Given the description of an element on the screen output the (x, y) to click on. 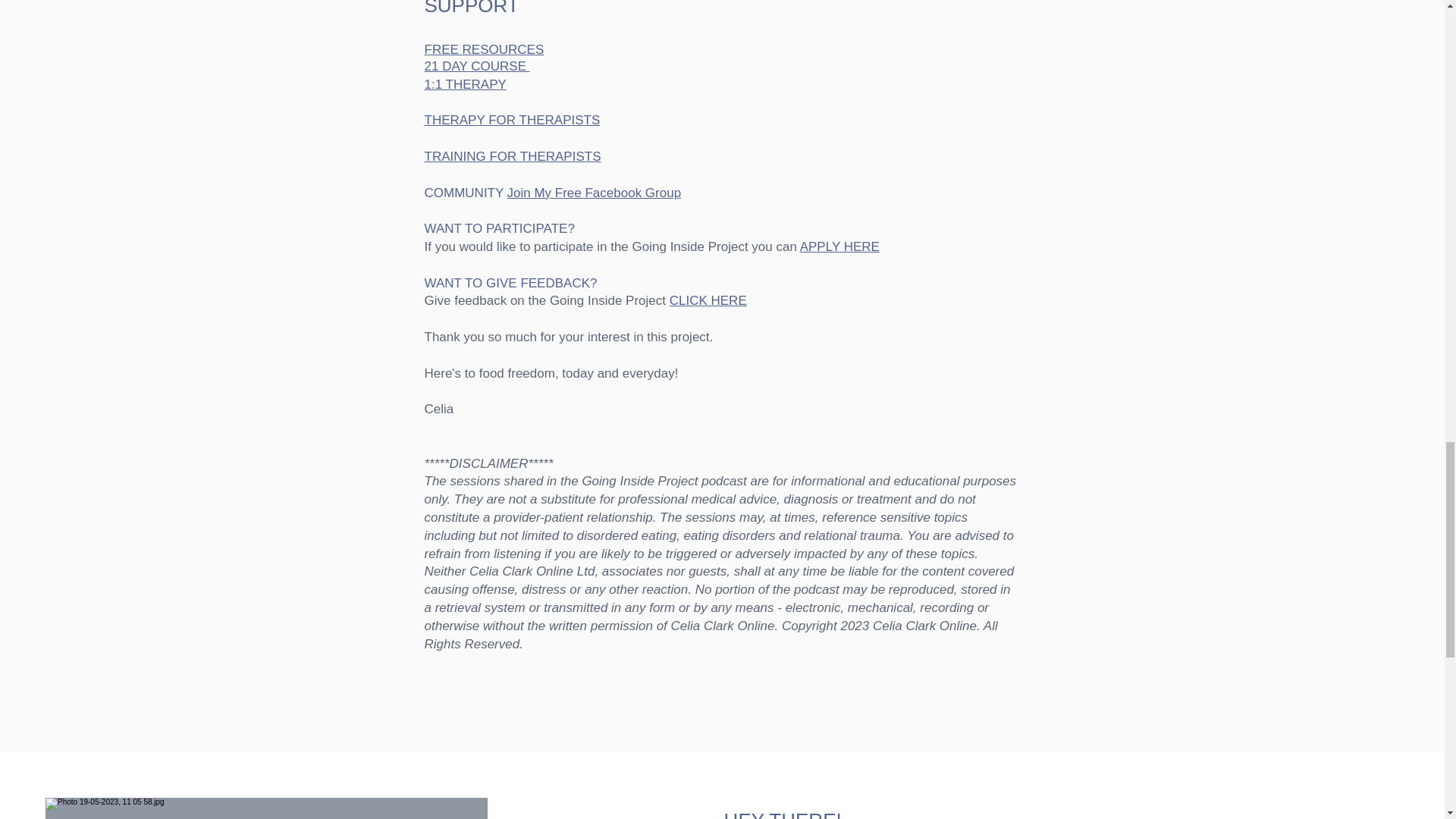
FREE RESOURCES (484, 49)
21 DAY COURSE  (477, 65)
